Given the description of an element on the screen output the (x, y) to click on. 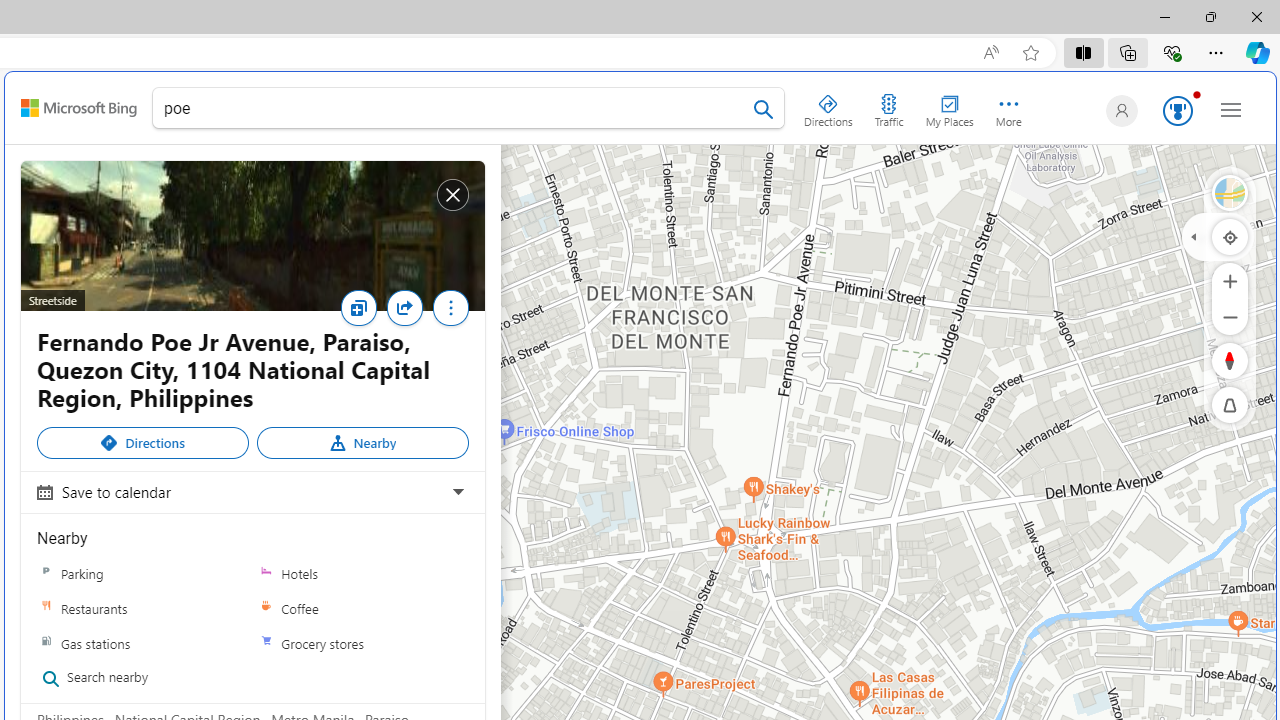
Nearby (362, 442)
